Given the description of an element on the screen output the (x, y) to click on. 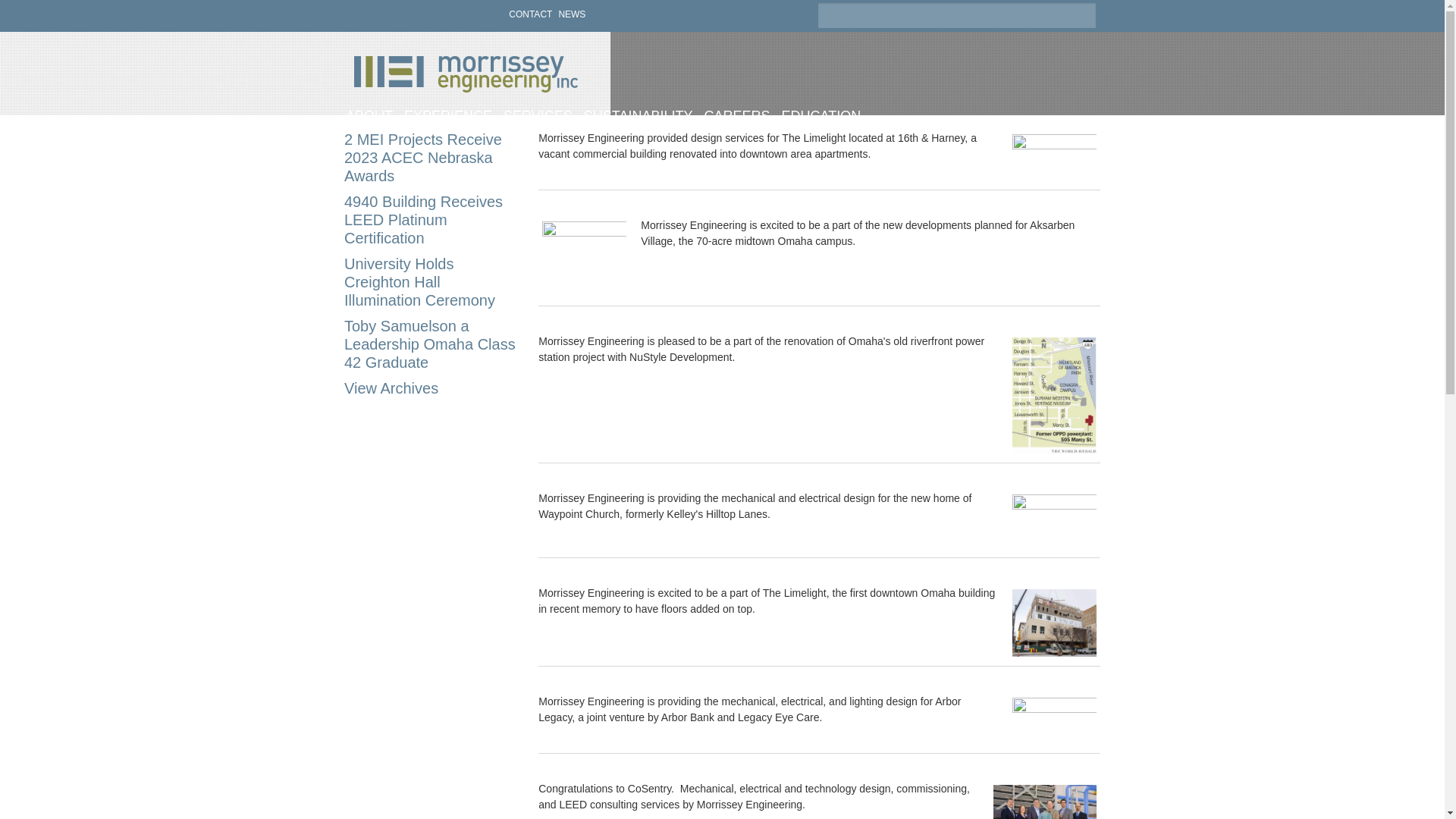
4940 Building Receives LEED Platinum Certification (422, 219)
2 MEI Projects Receive 2023 ACEC Nebraska Awards (422, 157)
Toby Samuelson a Leadership Omaha Class 42 Graduate (429, 344)
University Holds Creighton Hall Illumination Ceremony (419, 281)
